Given the description of an element on the screen output the (x, y) to click on. 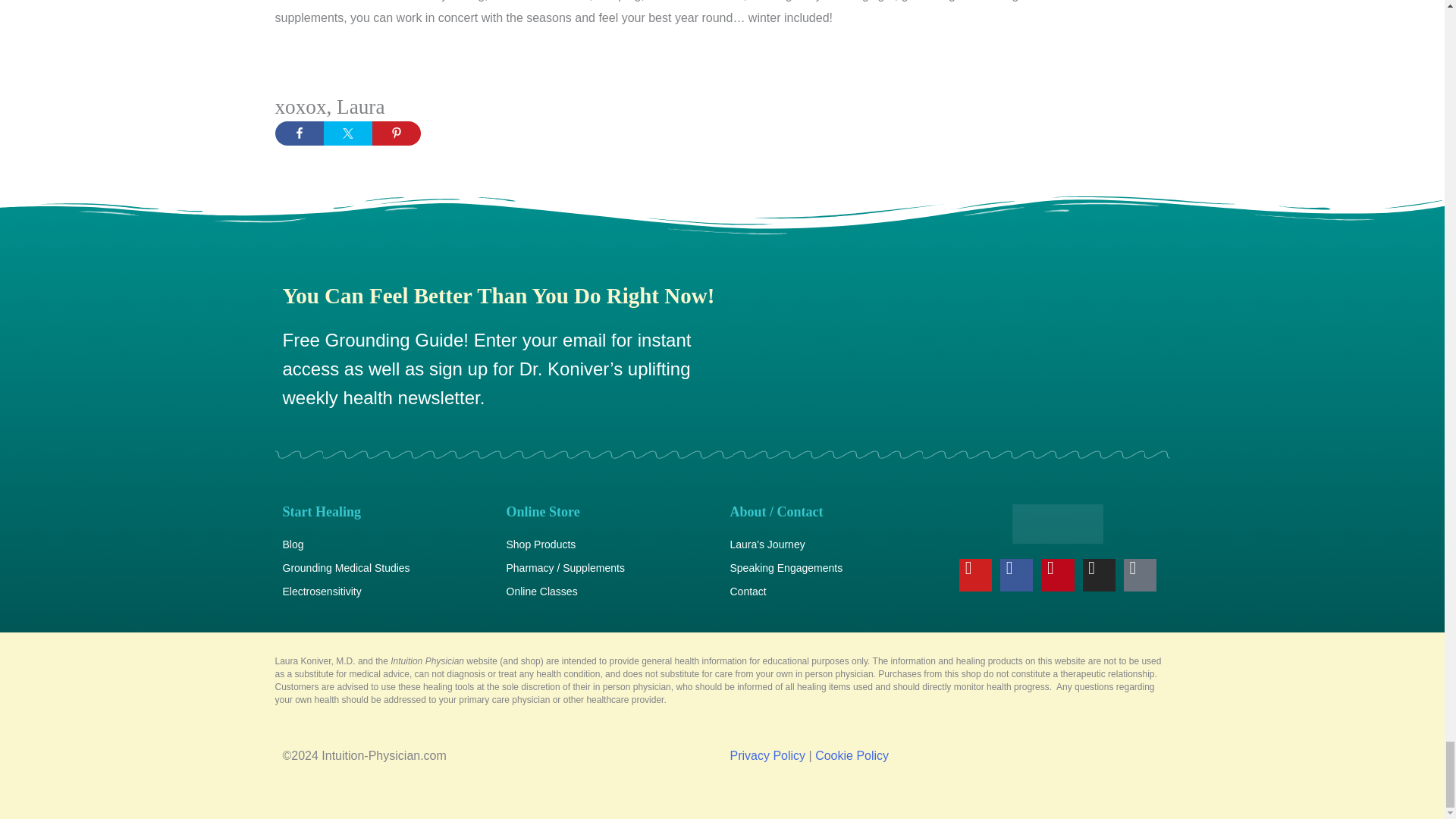
Share on Twitter (347, 133)
Share on Pinterest (395, 133)
Share on Facebook (299, 133)
